Given the description of an element on the screen output the (x, y) to click on. 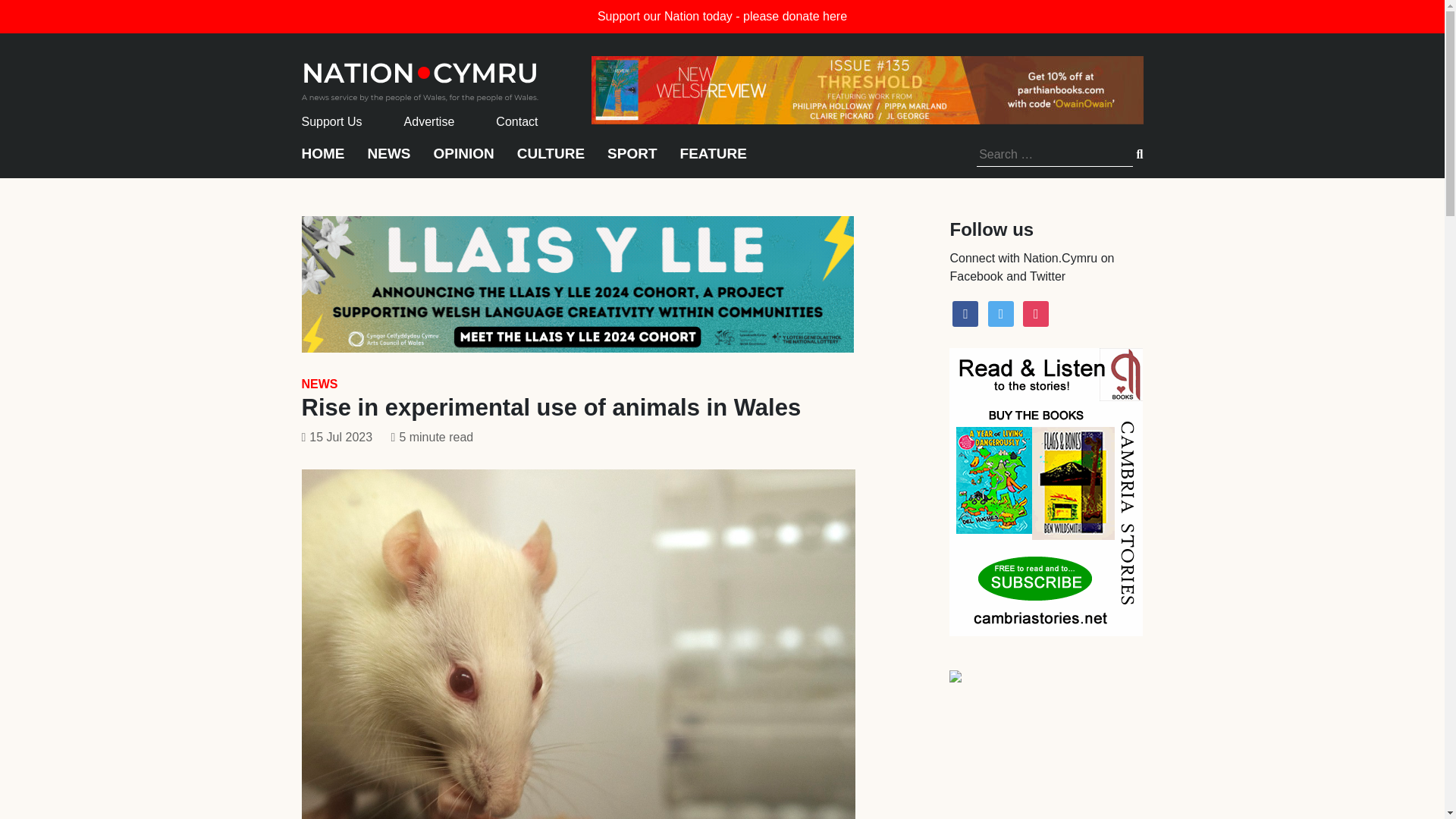
FEATURE (712, 160)
Advertise (429, 121)
Contact (516, 121)
SPORT (631, 160)
NEWS (388, 160)
OPINION (464, 160)
CULTURE (550, 160)
home (419, 77)
NEWS (319, 383)
HOME (323, 160)
Support Us (331, 121)
